Given the description of an element on the screen output the (x, y) to click on. 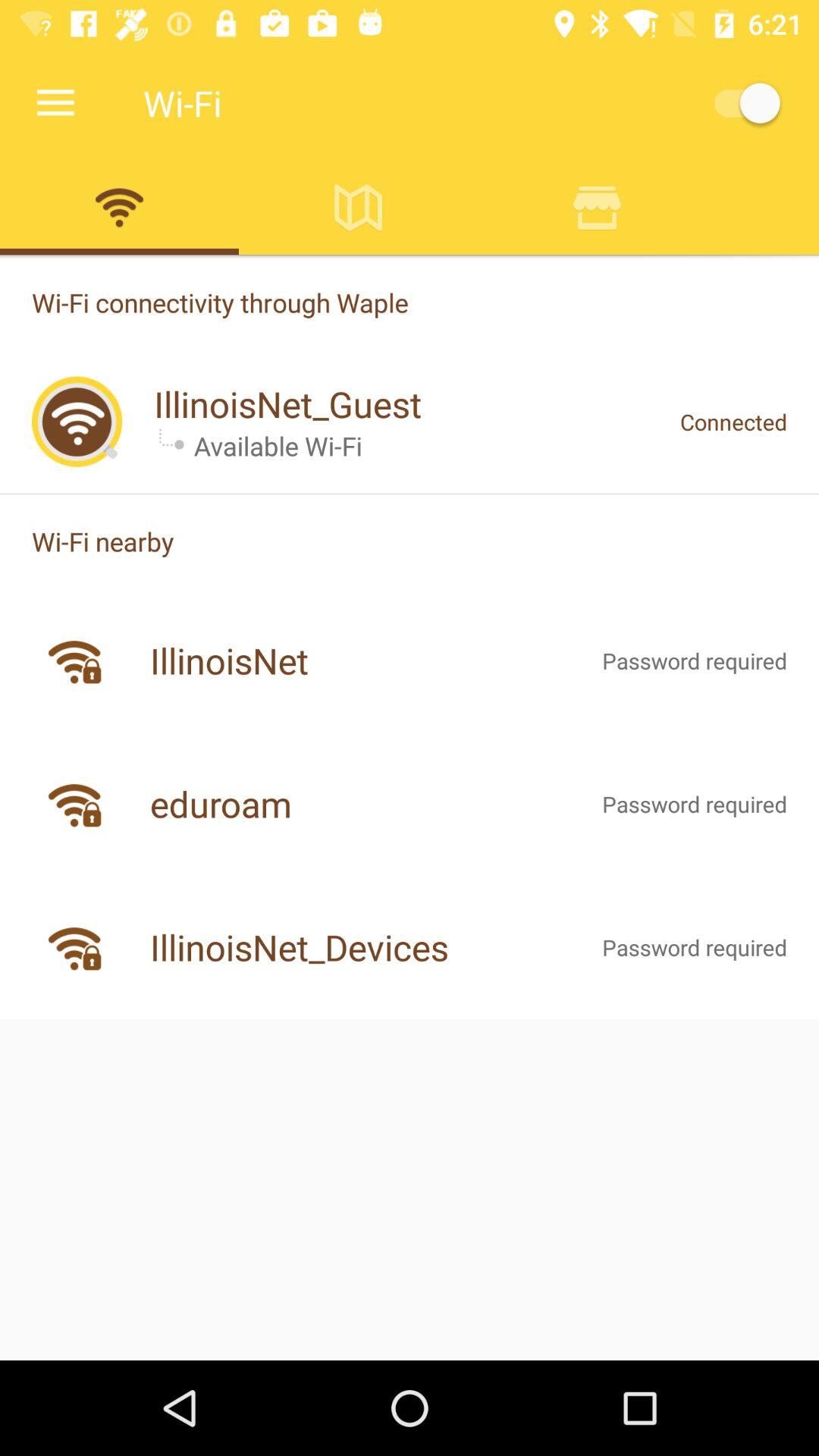
toggle autoplay option (739, 103)
